Given the description of an element on the screen output the (x, y) to click on. 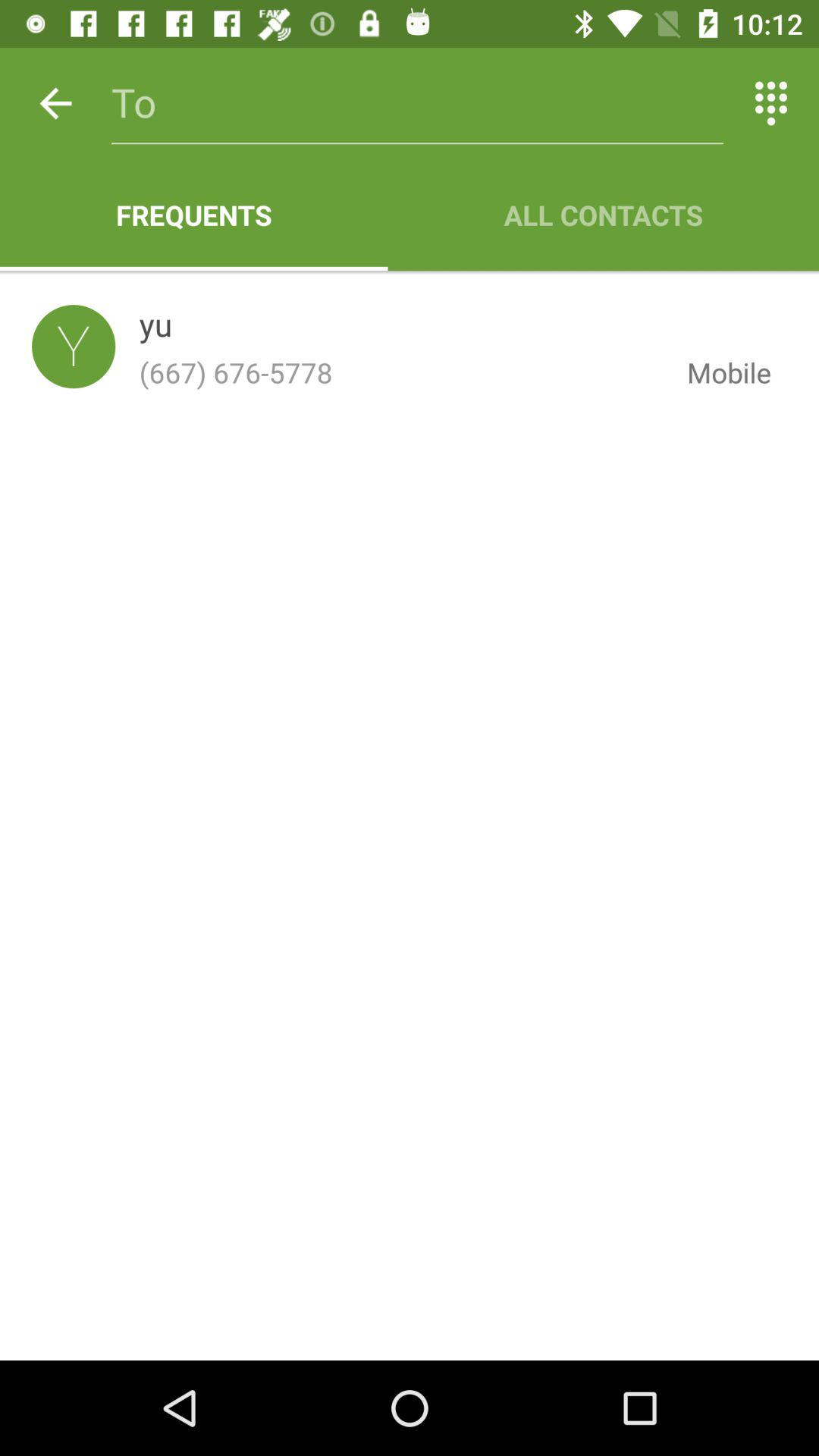
open icon below the yu item (401, 372)
